Given the description of an element on the screen output the (x, y) to click on. 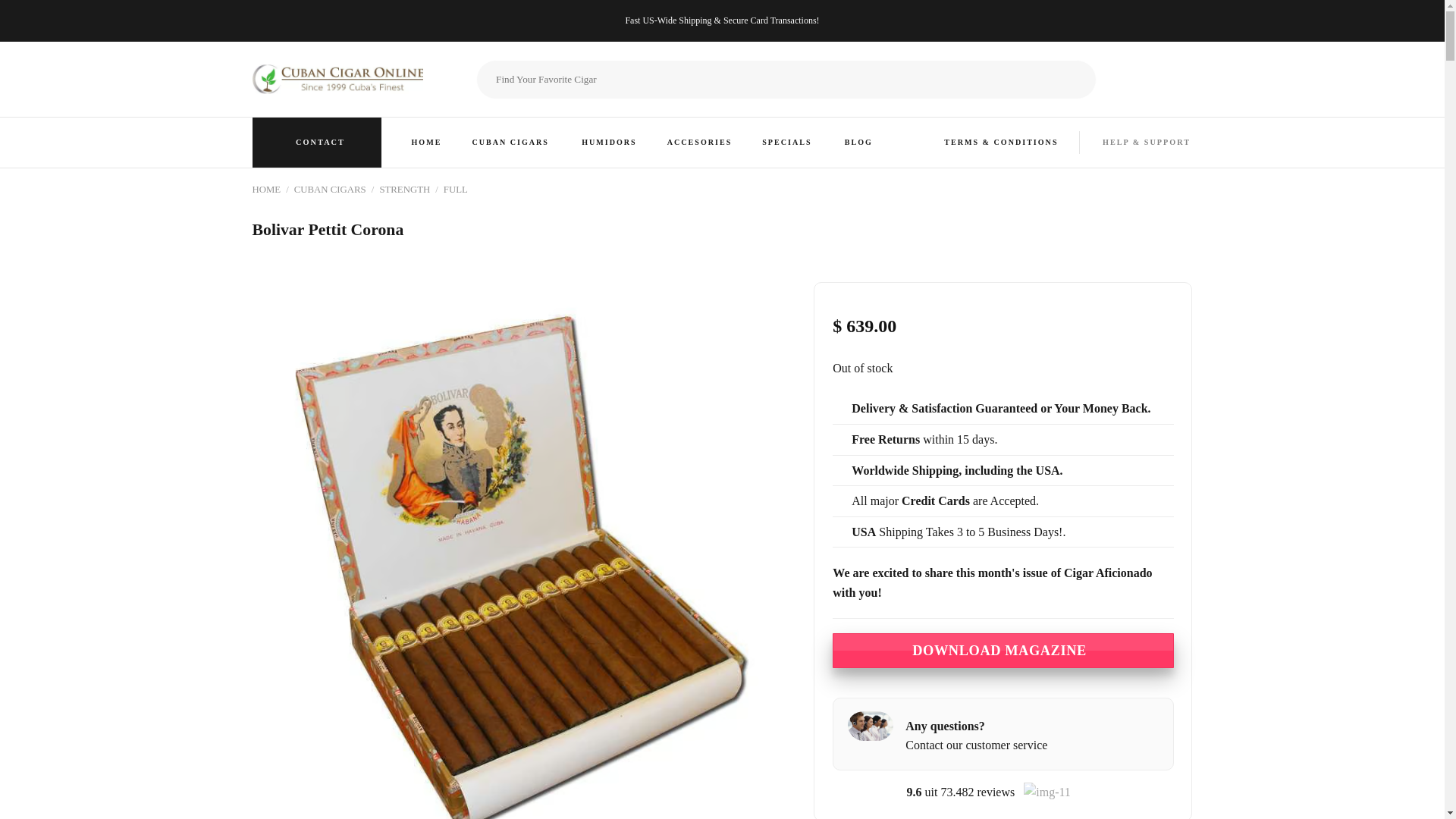
HUMIDORS (608, 142)
CUBAN CIGARS (511, 142)
Bolivar Pettit Corona 2 (1060, 350)
Search (1082, 79)
Cart (1184, 81)
Login (1152, 81)
